Given the description of an element on the screen output the (x, y) to click on. 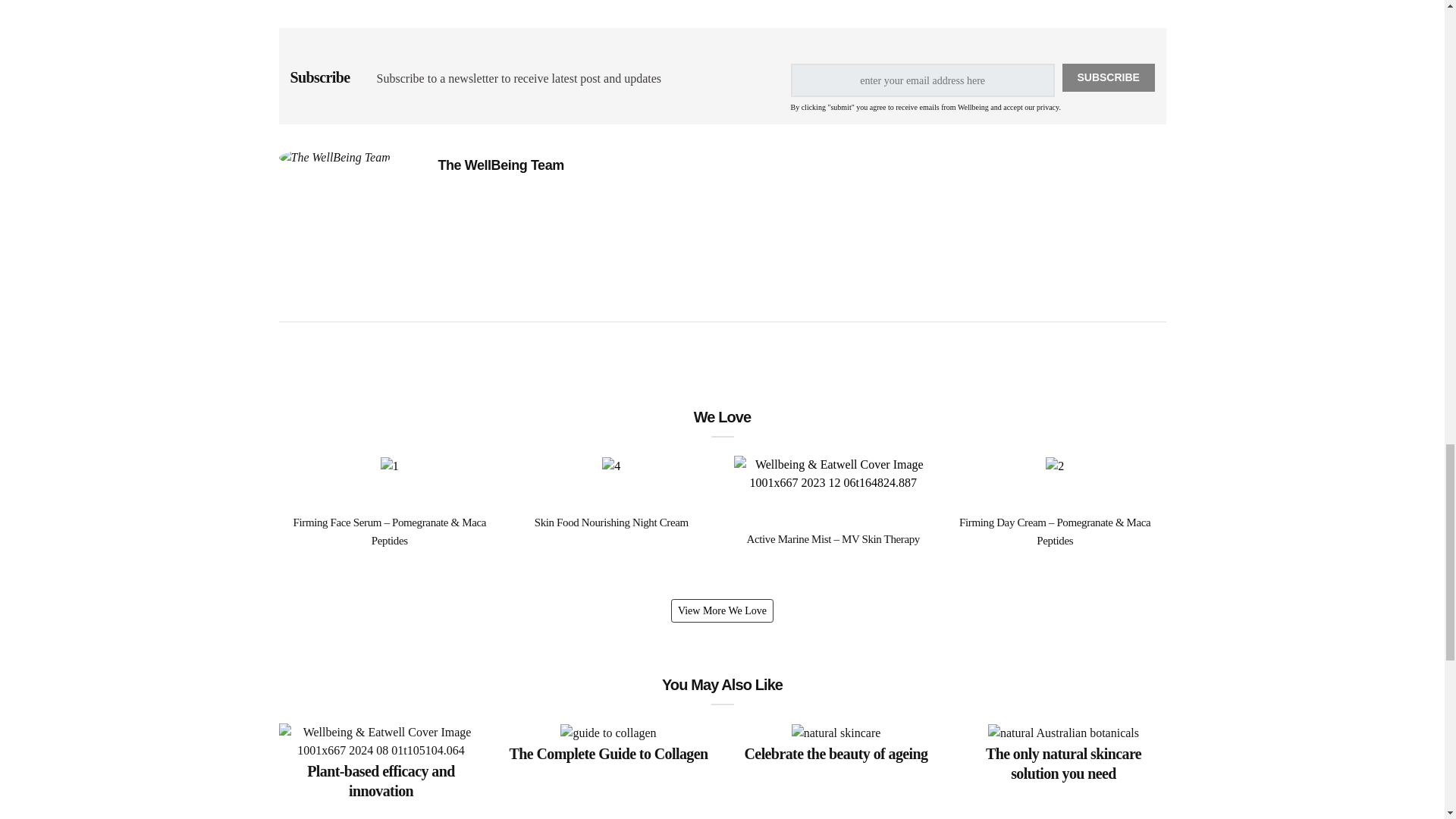
The Complete Guide to Collagen (608, 752)
Celebrate the beauty of ageing (836, 752)
SUBSCRIBE (1108, 77)
Plant-based efficacy and innovation (380, 779)
View More We Love (722, 610)
